Given the description of an element on the screen output the (x, y) to click on. 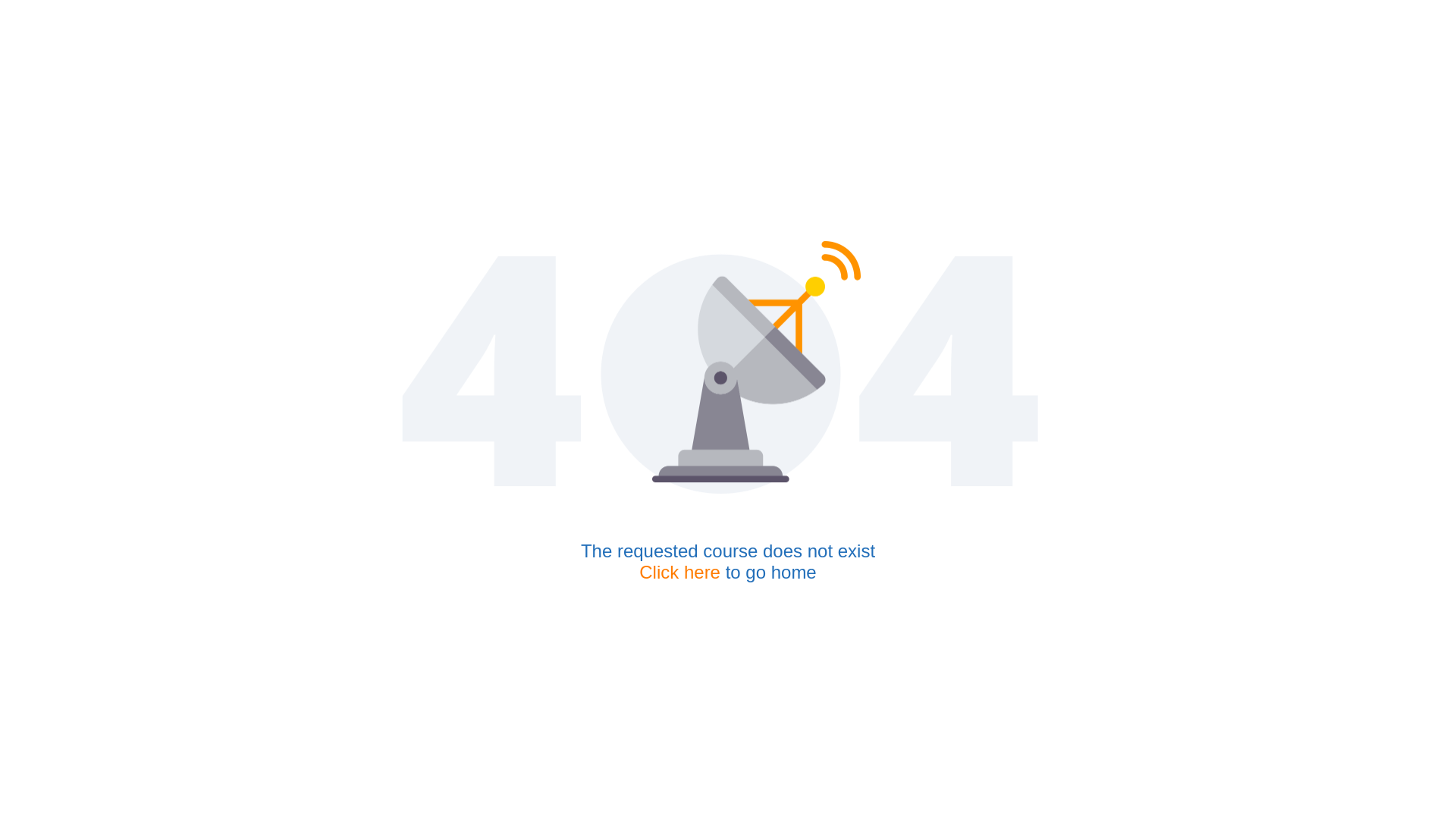
Click here Element type: text (679, 571)
